Given the description of an element on the screen output the (x, y) to click on. 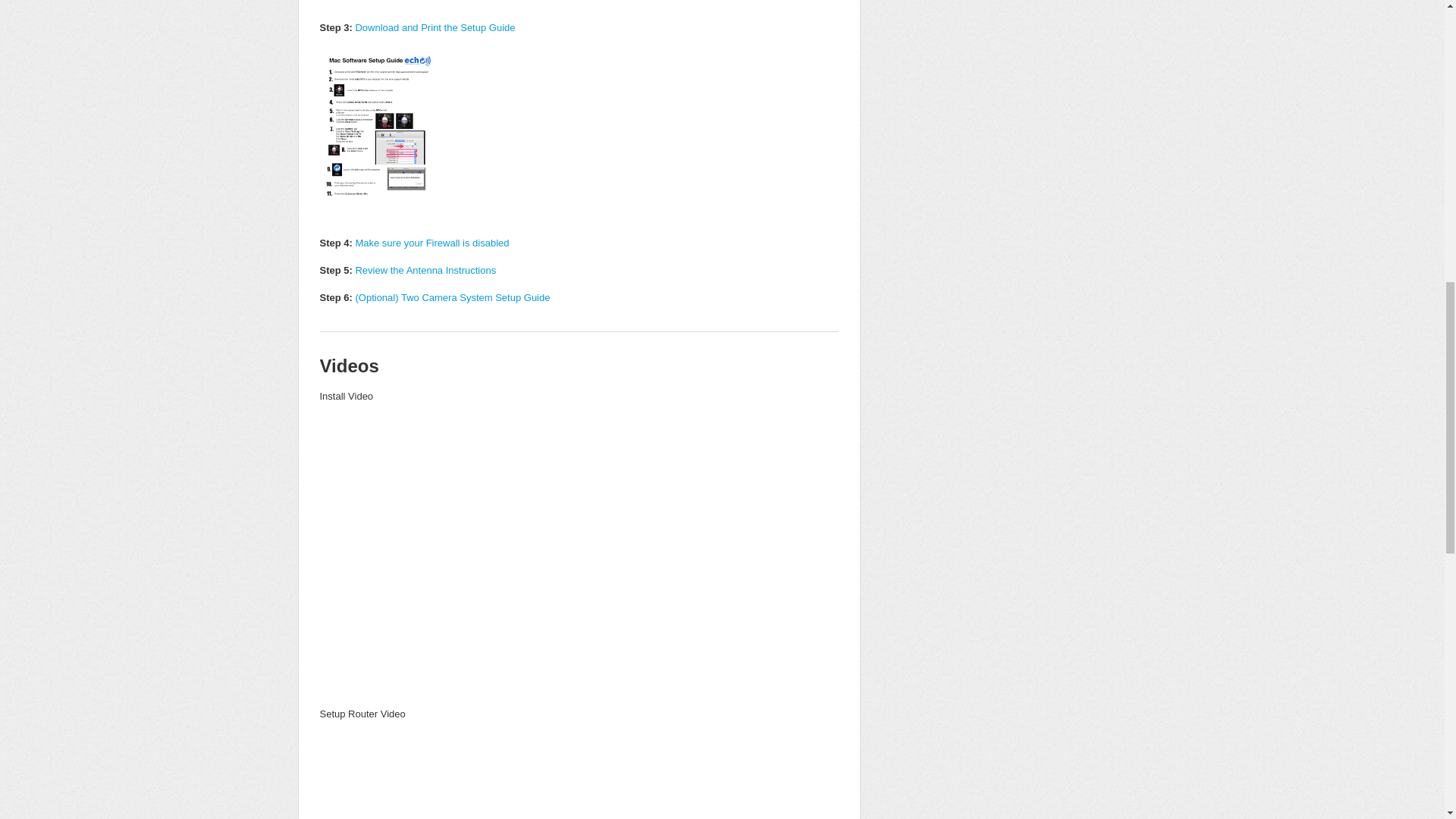
Review the Antenna Instructions (425, 270)
Download and Print the Setup Guide (435, 27)
Make sure your Firewall is disabled (431, 242)
